Given the description of an element on the screen output the (x, y) to click on. 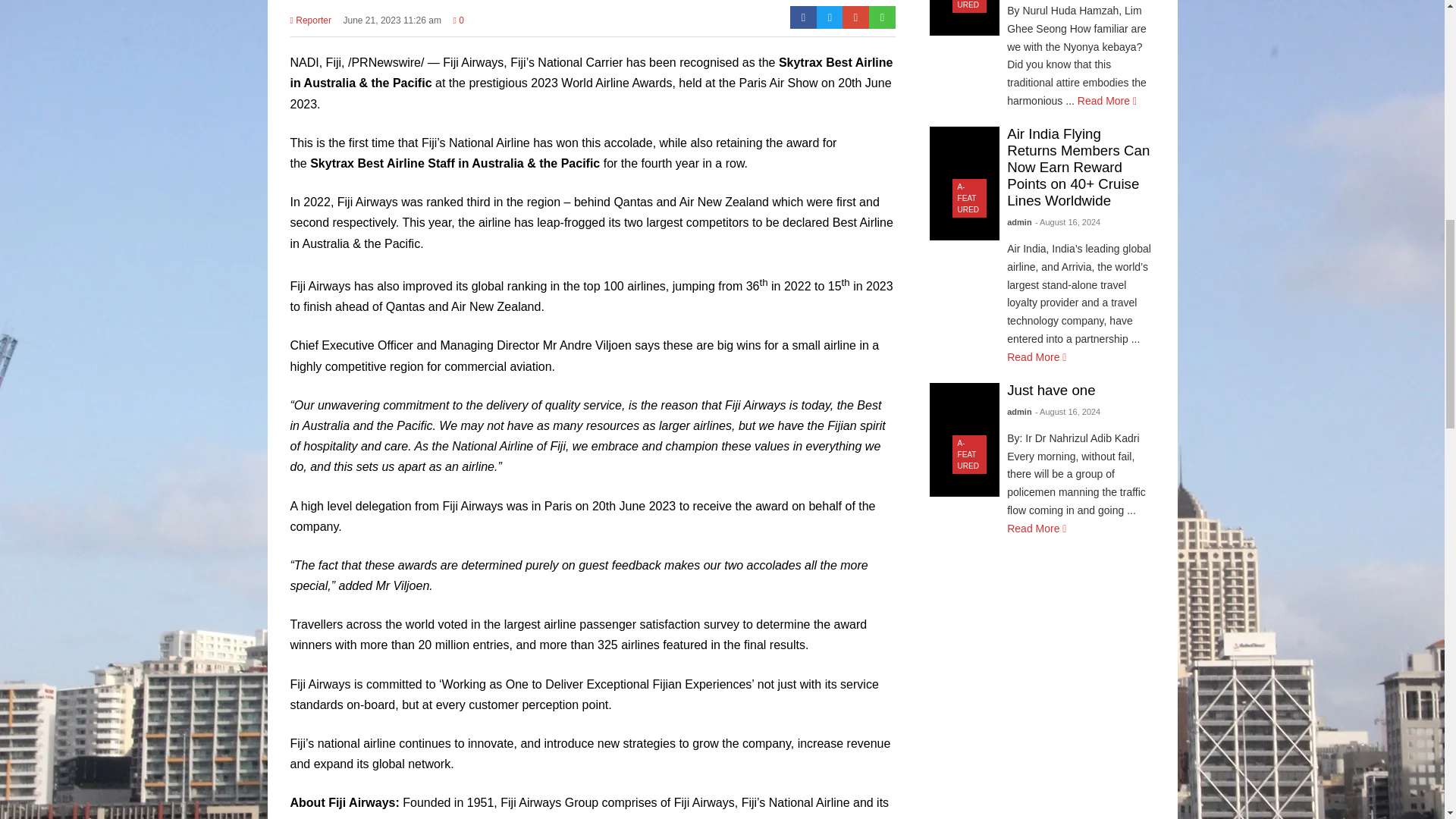
Twitter (829, 16)
Facebook (803, 16)
Whatsapp (882, 16)
E-mail (856, 16)
June 21, 2023 11:26 am (392, 24)
Reporter (309, 24)
